Given the description of an element on the screen output the (x, y) to click on. 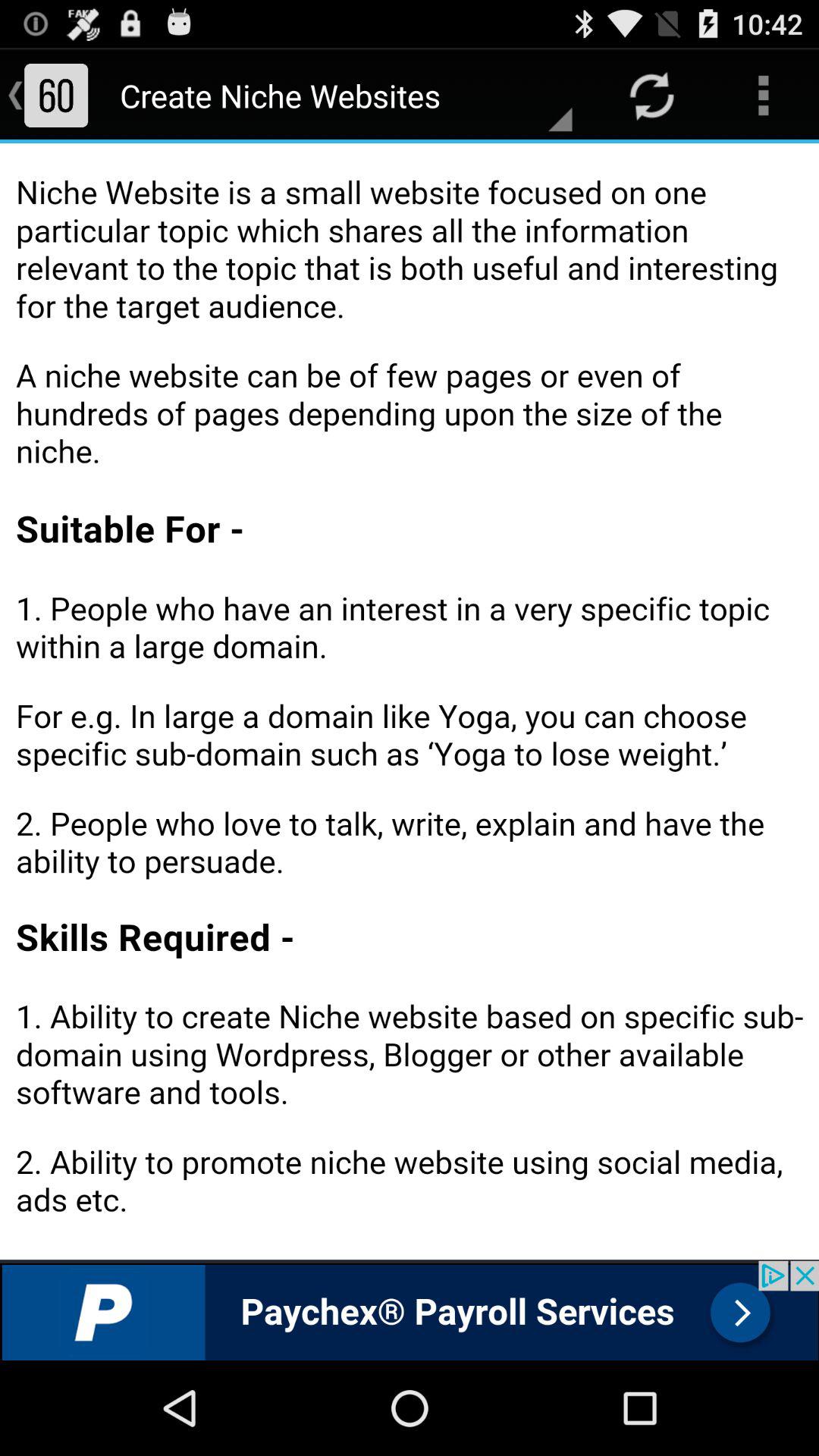
advertisement (409, 1310)
